Given the description of an element on the screen output the (x, y) to click on. 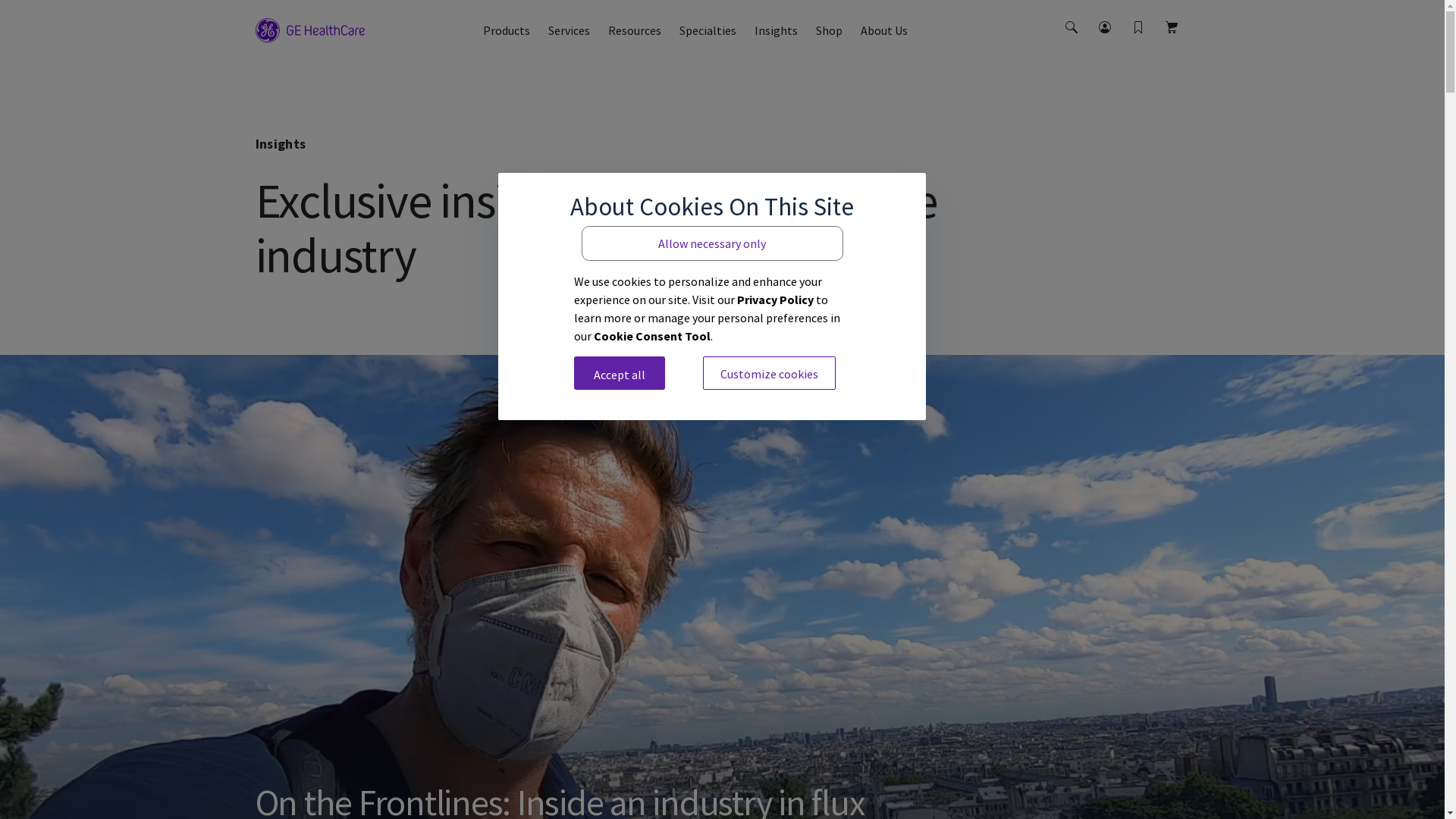
Cookie Consent Tool Element type: text (651, 334)
Allow necessary only Element type: text (712, 242)
Customize cookies Element type: text (768, 372)
Privacy Policy Element type: text (775, 298)
Accept all Element type: text (619, 372)
